Given the description of an element on the screen output the (x, y) to click on. 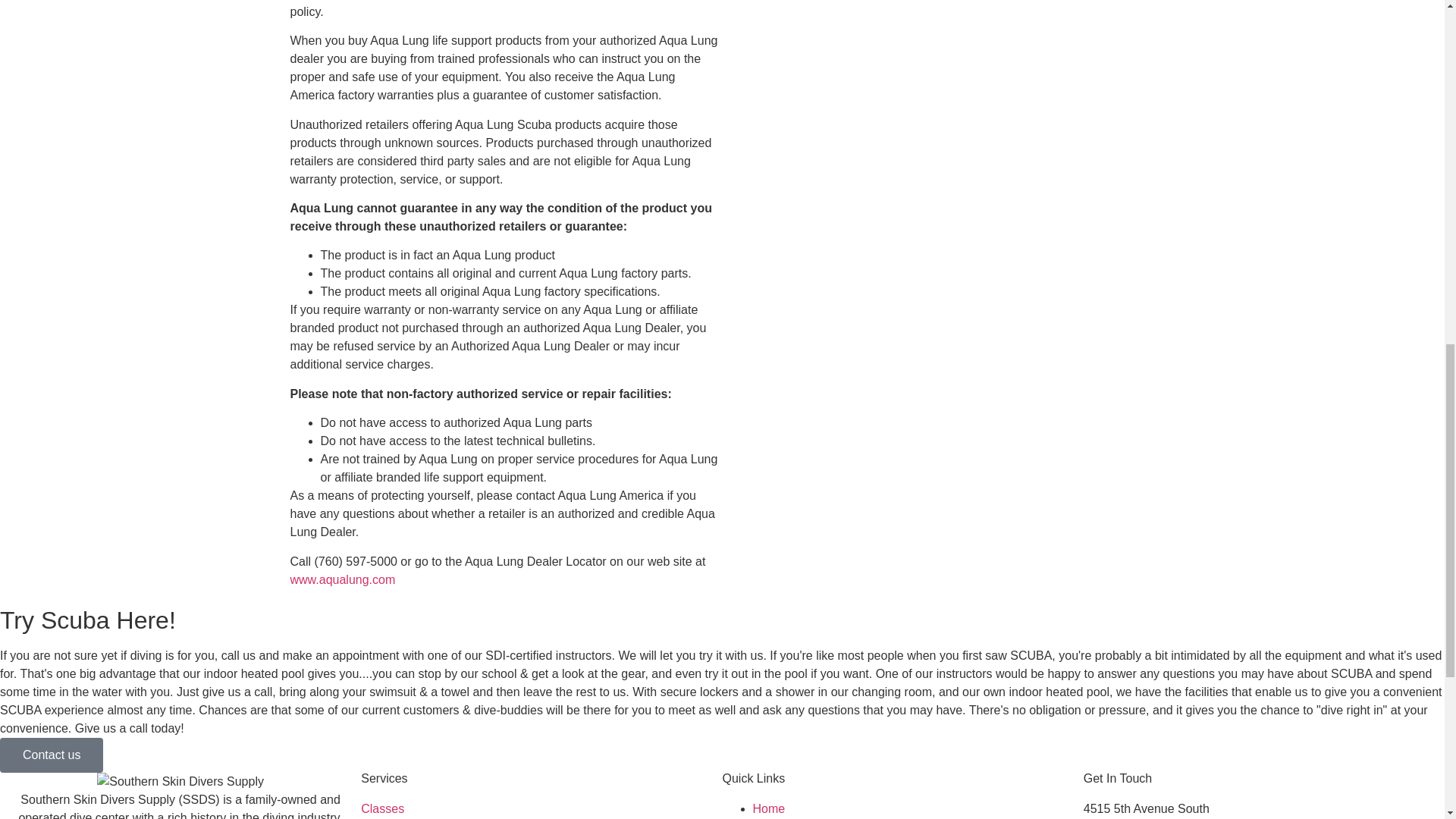
Home (768, 808)
Contact us (51, 755)
Classes (541, 809)
www.aqualung.com (341, 579)
